Given the description of an element on the screen output the (x, y) to click on. 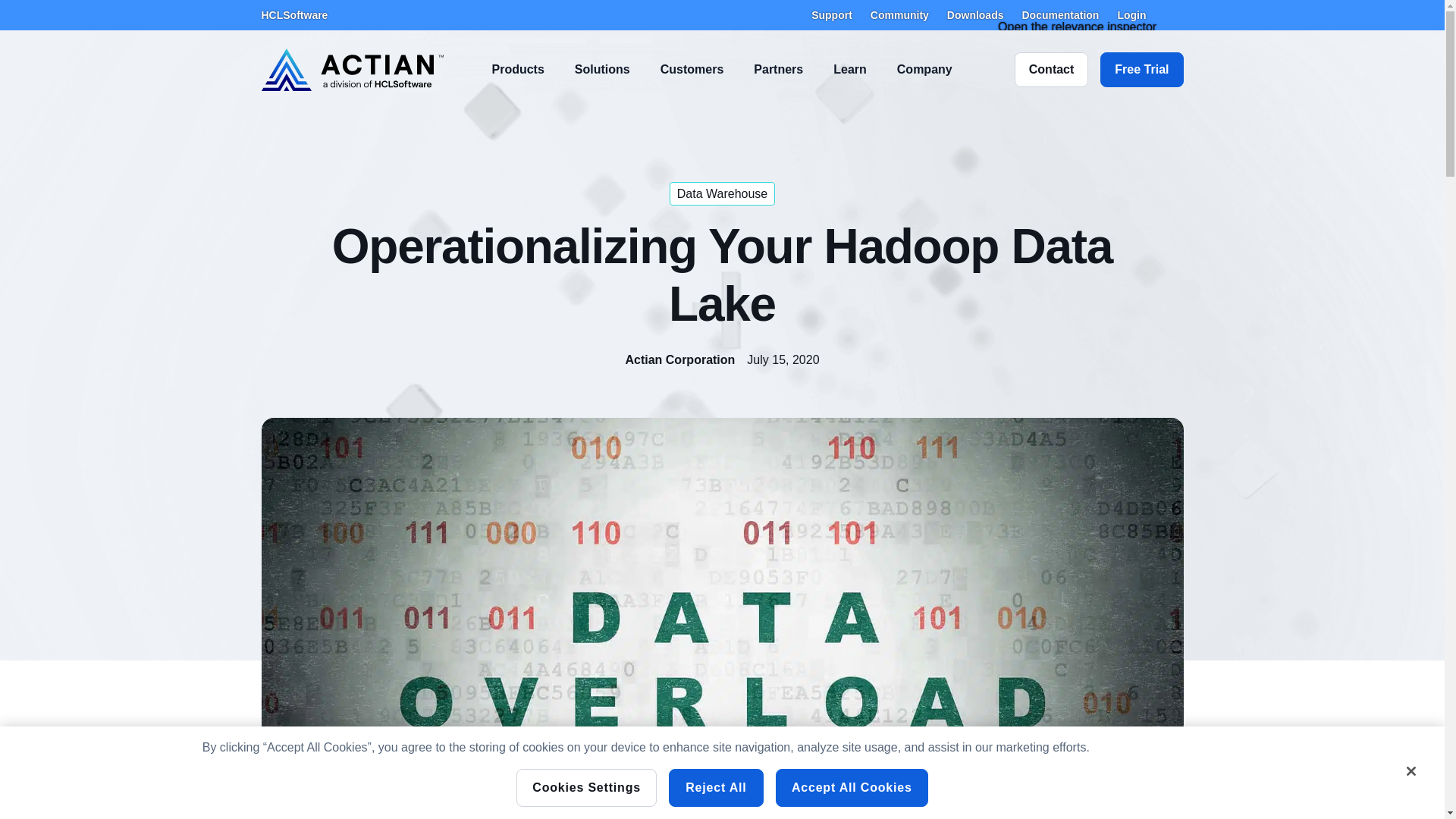
HCLSoftware (293, 15)
Products (517, 69)
Login (1130, 15)
Community (899, 15)
Support (830, 15)
Solutions (602, 69)
Downloads (975, 15)
Documentation (1060, 15)
